Given the description of an element on the screen output the (x, y) to click on. 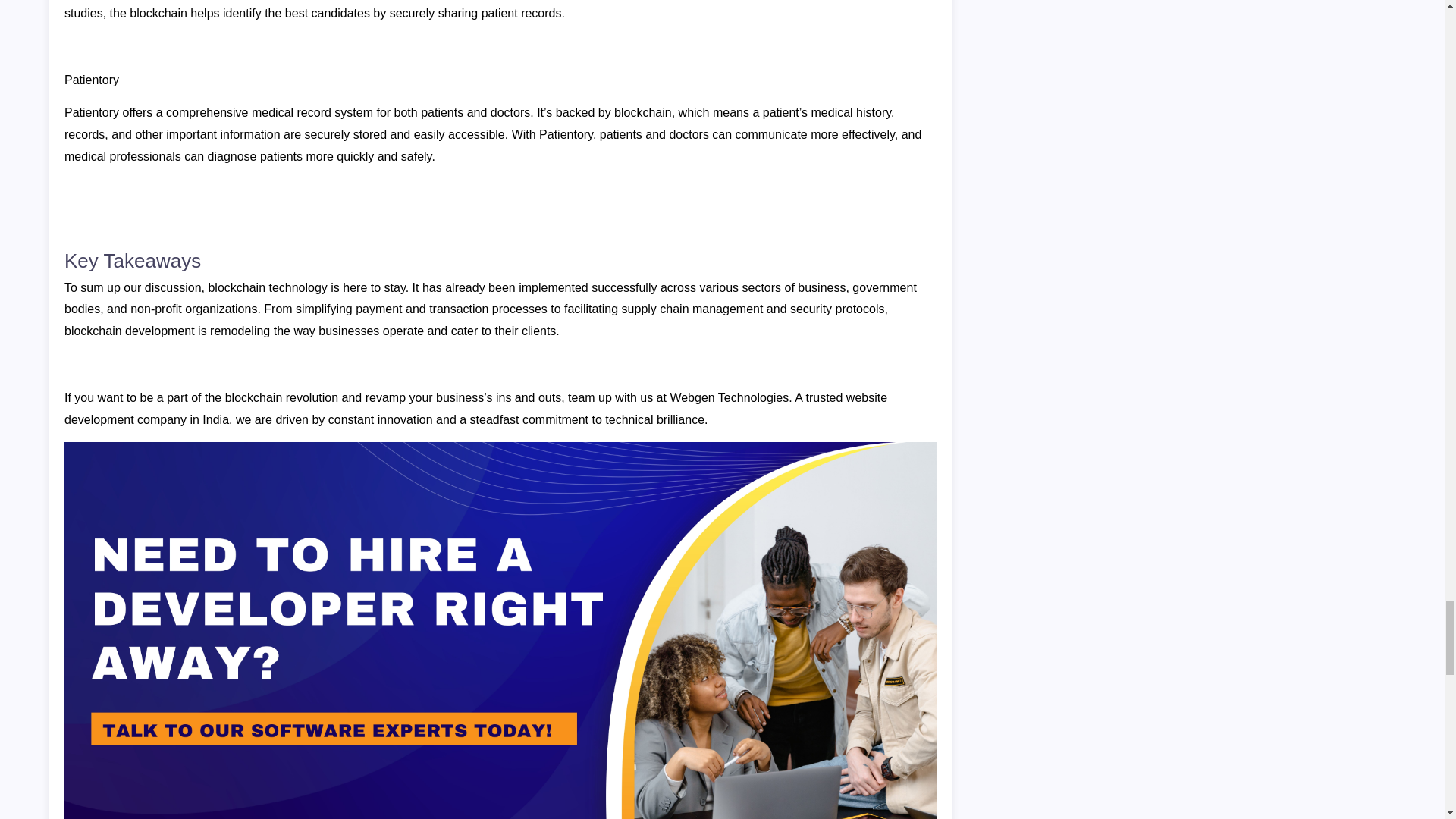
website development company in India (475, 408)
